Given the description of an element on the screen output the (x, y) to click on. 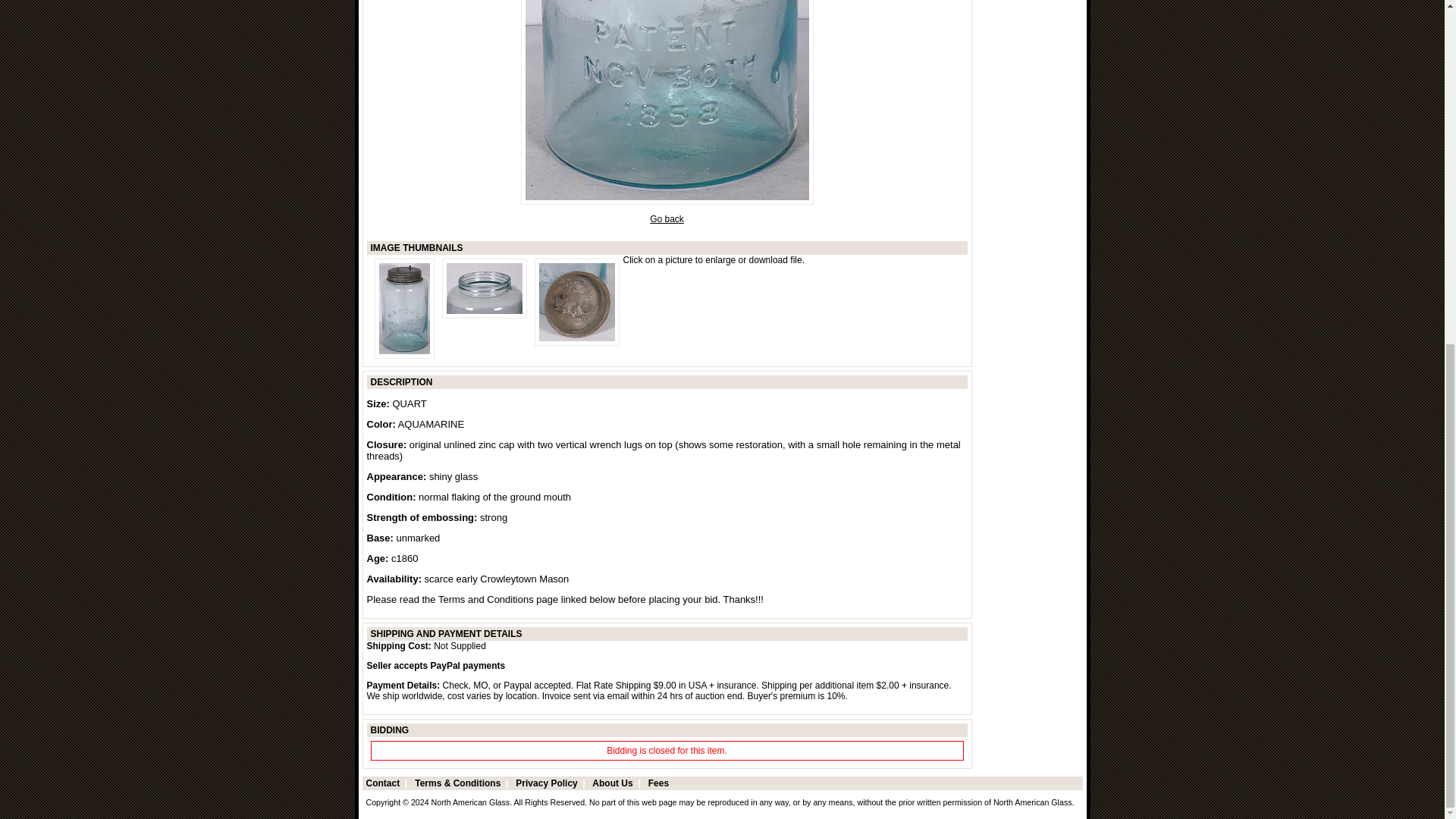
Go back (666, 218)
About Us (611, 783)
Contact (381, 783)
Fees (657, 783)
Privacy Policy (545, 783)
BIDDING (389, 729)
